Given the description of an element on the screen output the (x, y) to click on. 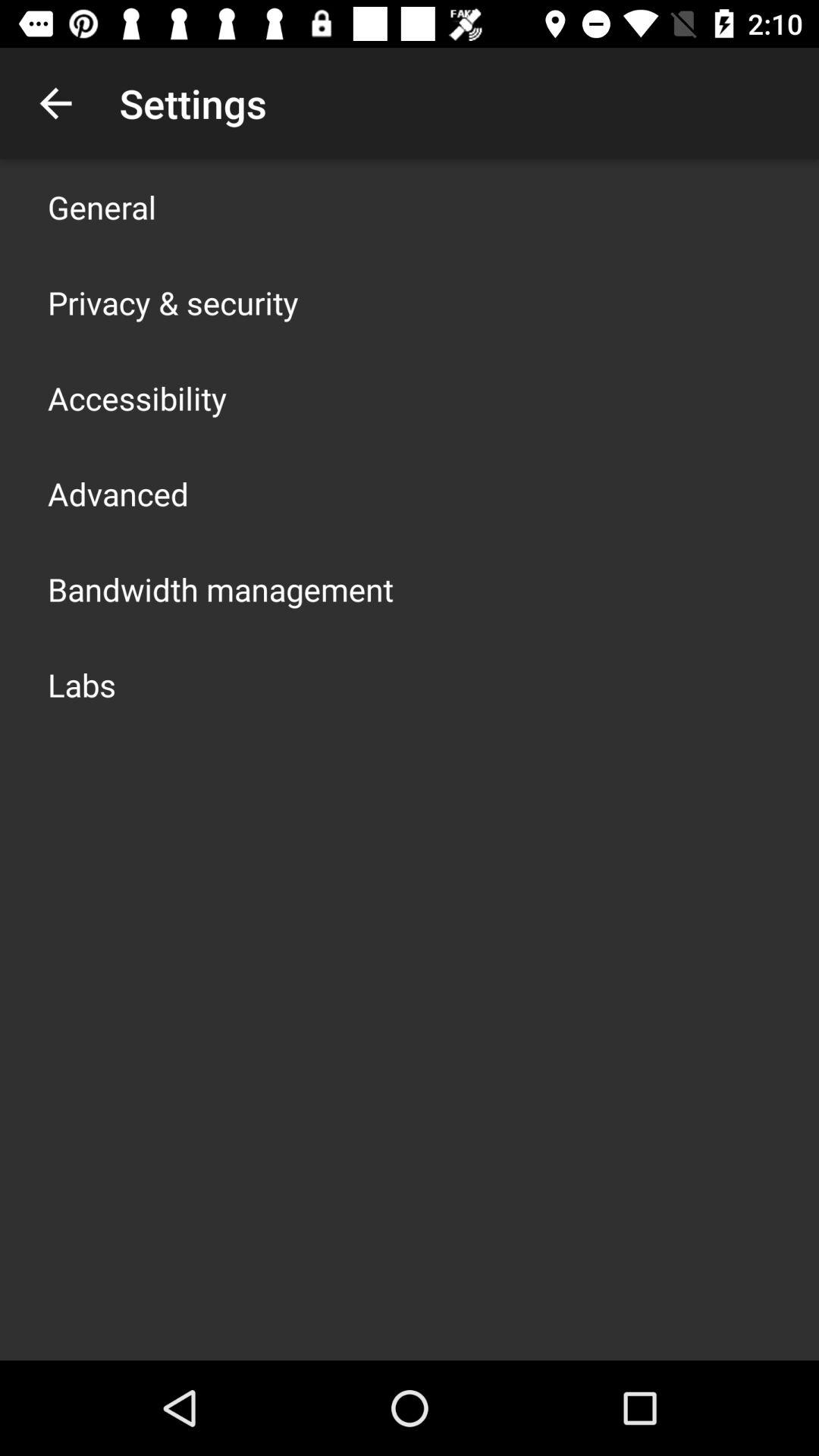
turn on the item above the general icon (55, 103)
